Given the description of an element on the screen output the (x, y) to click on. 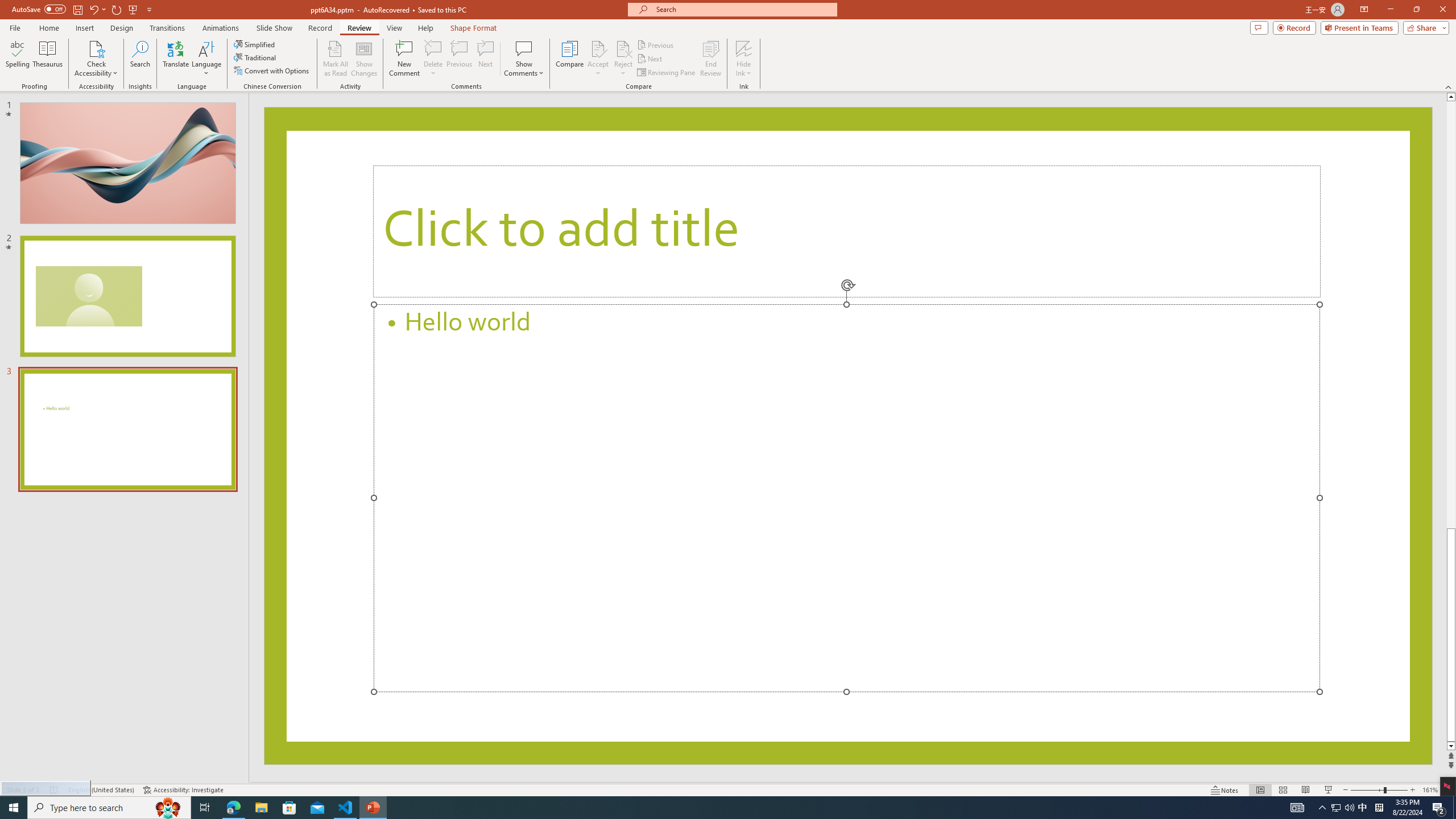
Delete (432, 58)
Hide Ink (743, 48)
Reject (622, 58)
Spell Check No Errors (54, 790)
Reject Change (622, 48)
Language (206, 58)
Show Comments (524, 48)
Mark All as Read (335, 58)
Convert with Options... (272, 69)
